Given the description of an element on the screen output the (x, y) to click on. 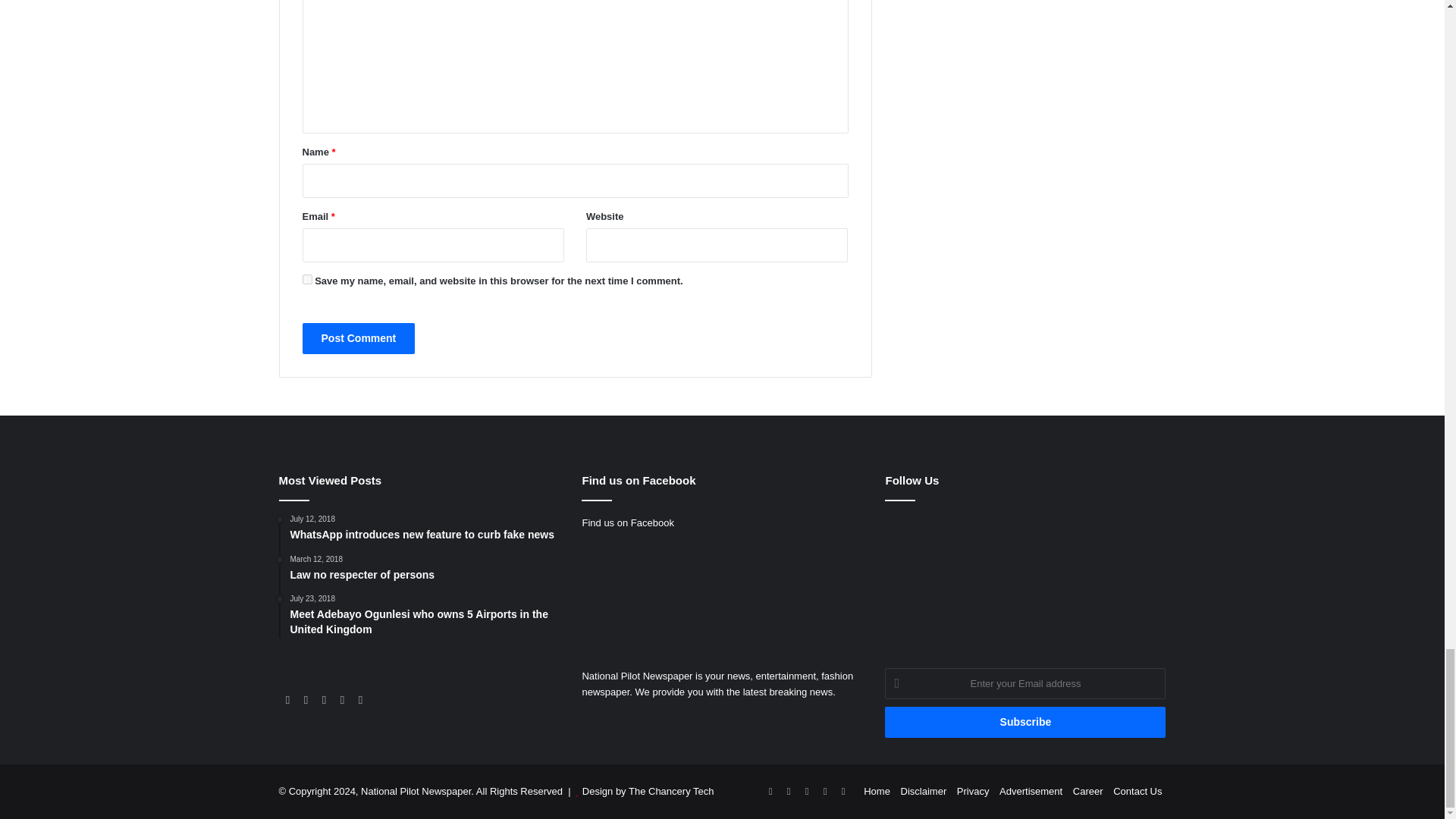
Post Comment (357, 337)
Subscribe (1025, 721)
yes (306, 279)
